Given the description of an element on the screen output the (x, y) to click on. 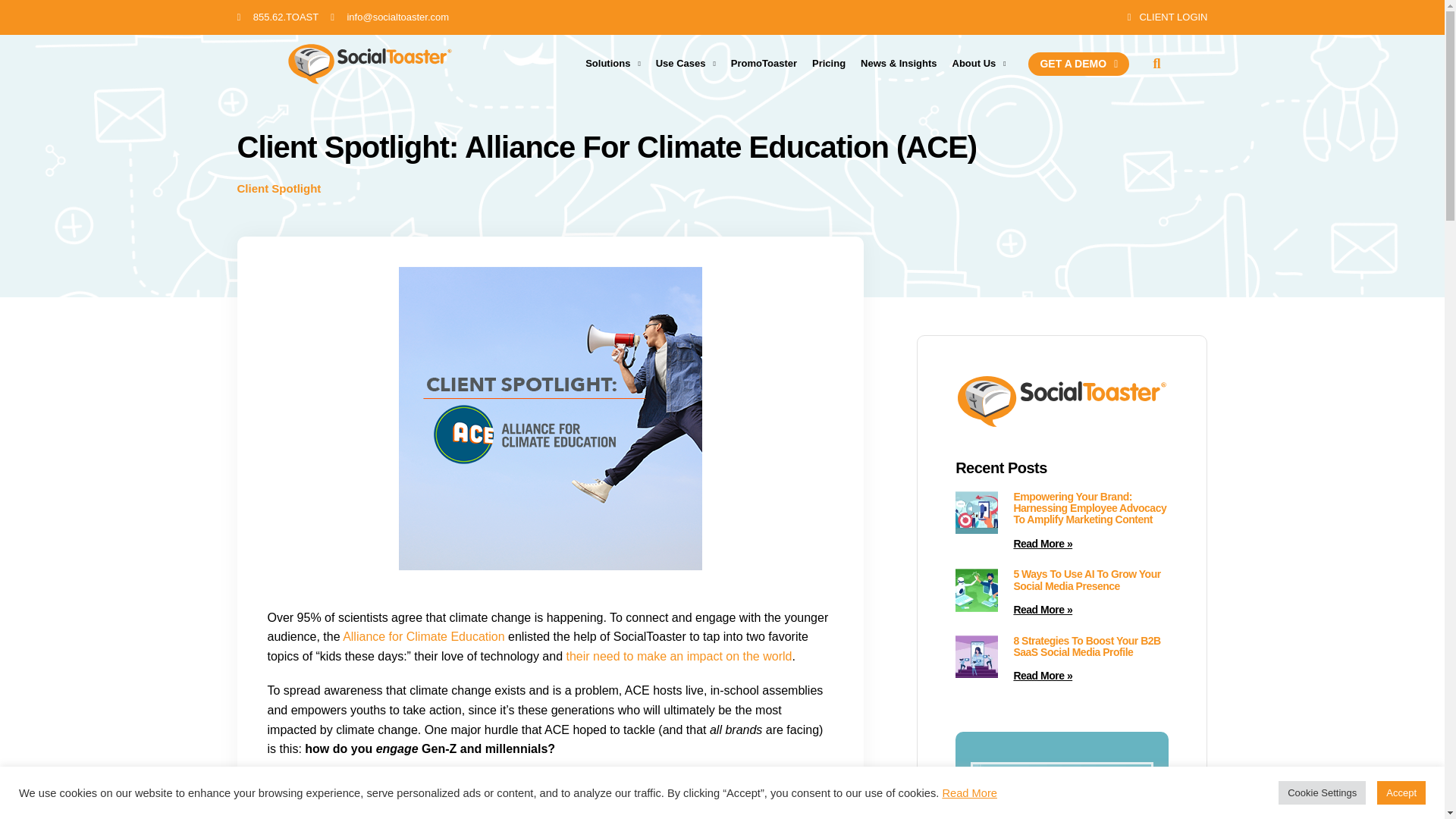
CLIENT LOGIN (1162, 17)
Use Cases (685, 63)
PromoToaster (764, 63)
Pricing (829, 63)
Solutions (612, 63)
About Us (978, 63)
